Given the description of an element on the screen output the (x, y) to click on. 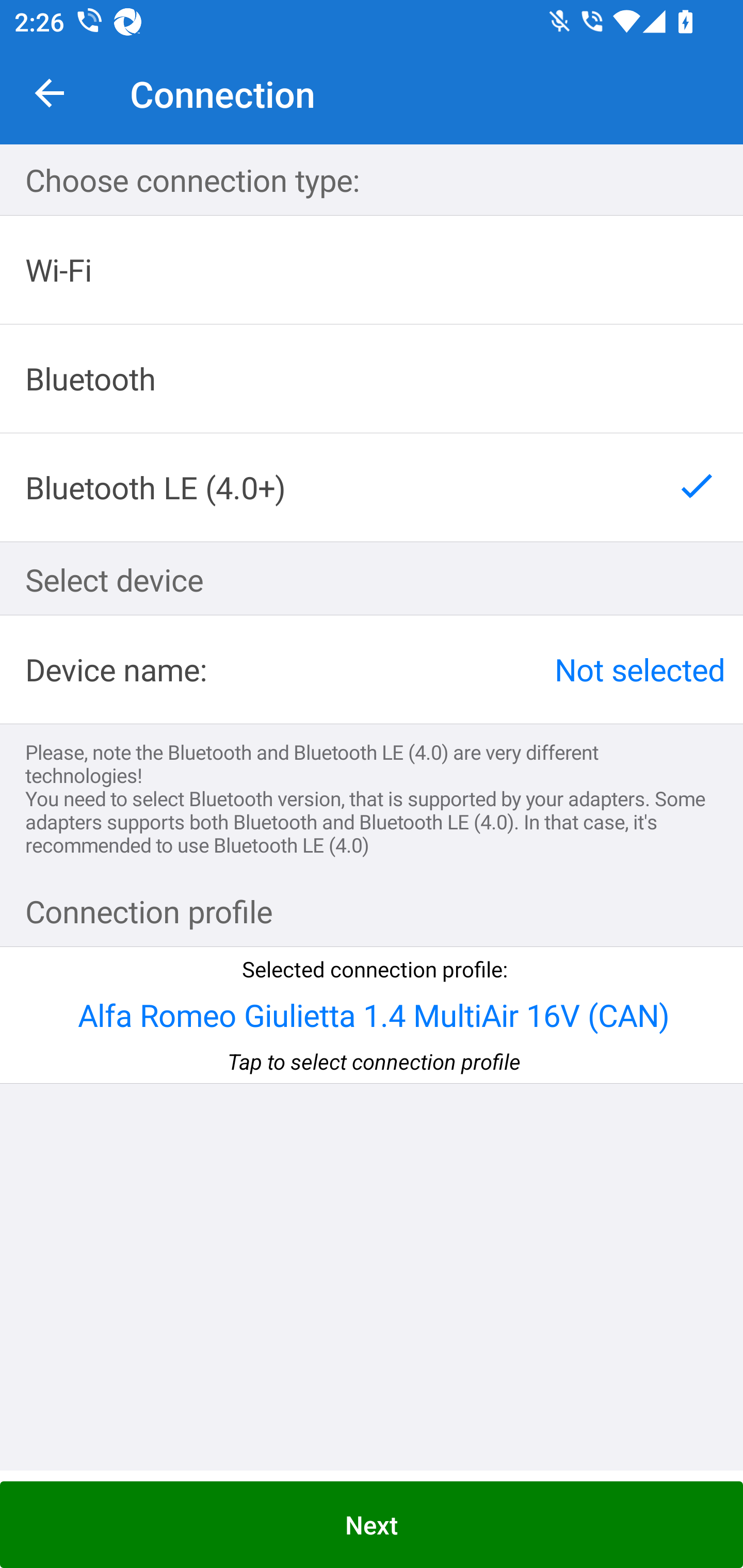
Wi-Fi (371, 270)
Bluetooth (371, 378)
Bluetooth LE (4.0+) (371, 486)
Device name: Not selected (371, 669)
Next (371, 1524)
